Given the description of an element on the screen output the (x, y) to click on. 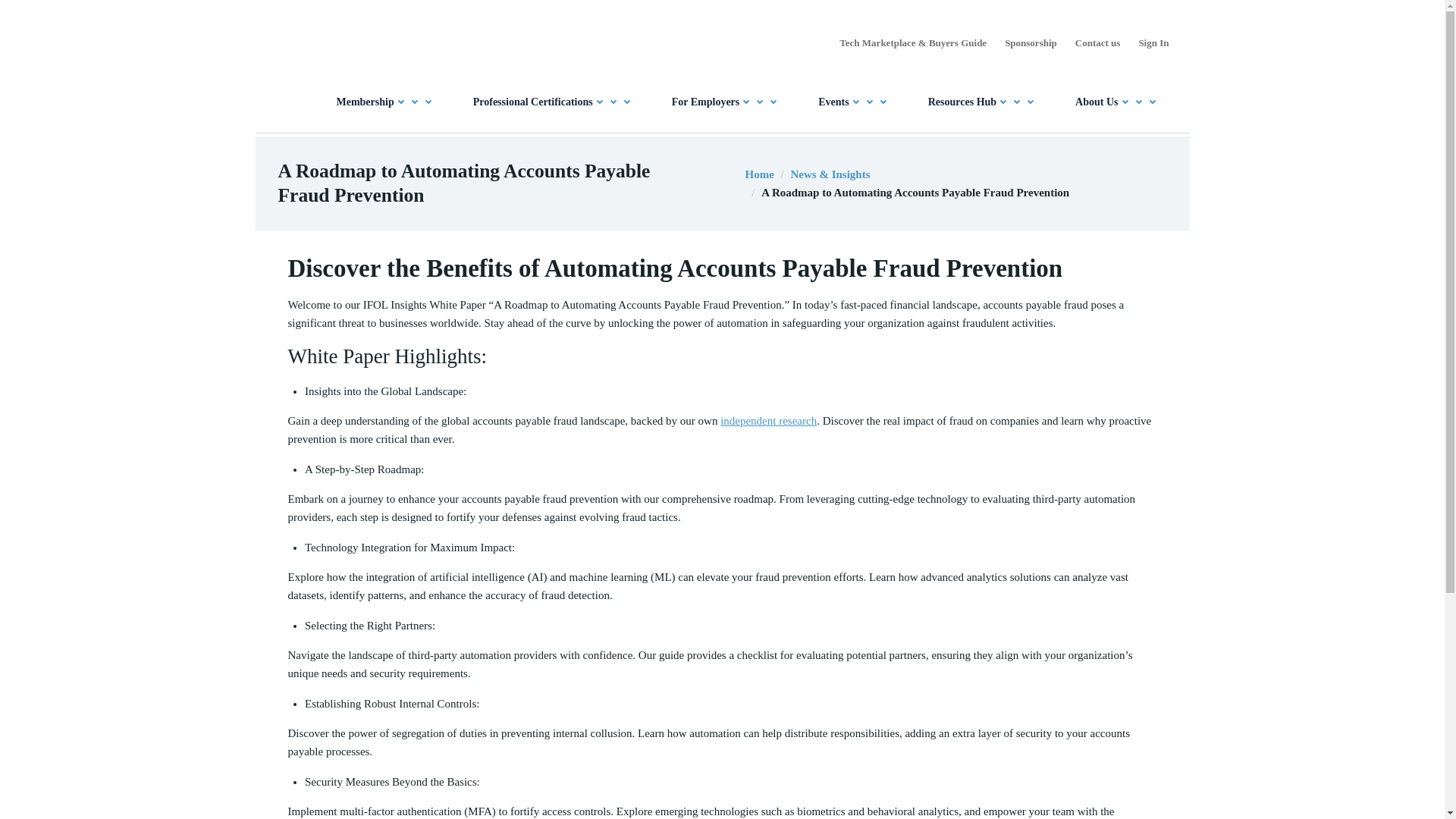
Sign In (1153, 43)
Sponsorship (1030, 43)
Events (853, 101)
For Employers (725, 101)
Professional Certifications (553, 101)
Membership (384, 101)
Contact us (1098, 43)
About Us (1116, 101)
Resources Hub (982, 101)
